Given the description of an element on the screen output the (x, y) to click on. 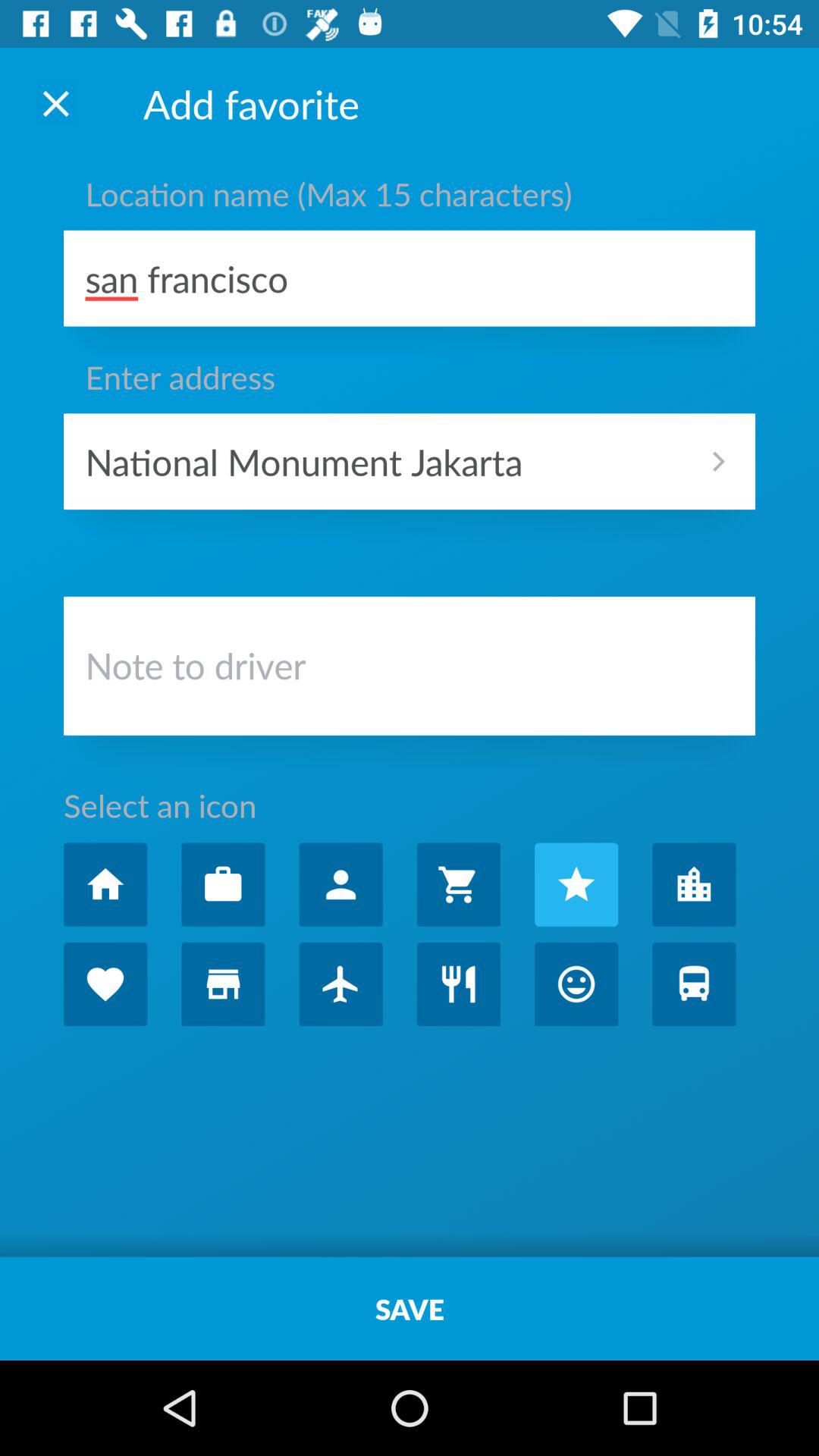
share with friends (340, 884)
